Given the description of an element on the screen output the (x, y) to click on. 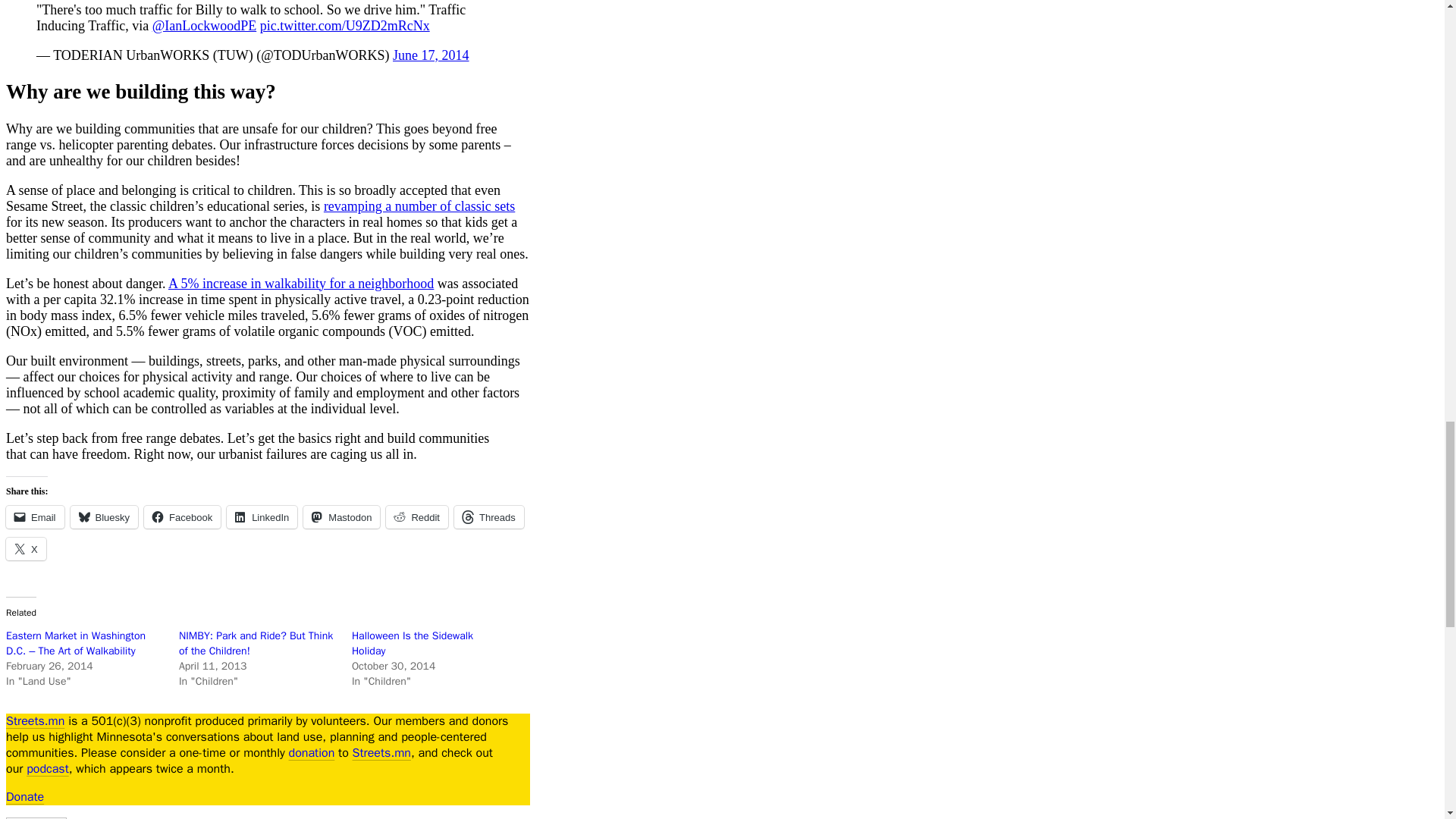
Click to share on Mastodon (341, 517)
Click to share on Bluesky (103, 517)
Halloween Is the Sidewalk Holiday (412, 643)
Click to share on X (25, 548)
Click to share on Reddit (416, 517)
Click to share on Facebook (182, 517)
Click to share on Threads (489, 517)
Click to email a link to a friend (34, 517)
Click to share on LinkedIn (262, 517)
NIMBY: Park and Ride? But Think of the Children! (256, 643)
